Given the description of an element on the screen output the (x, y) to click on. 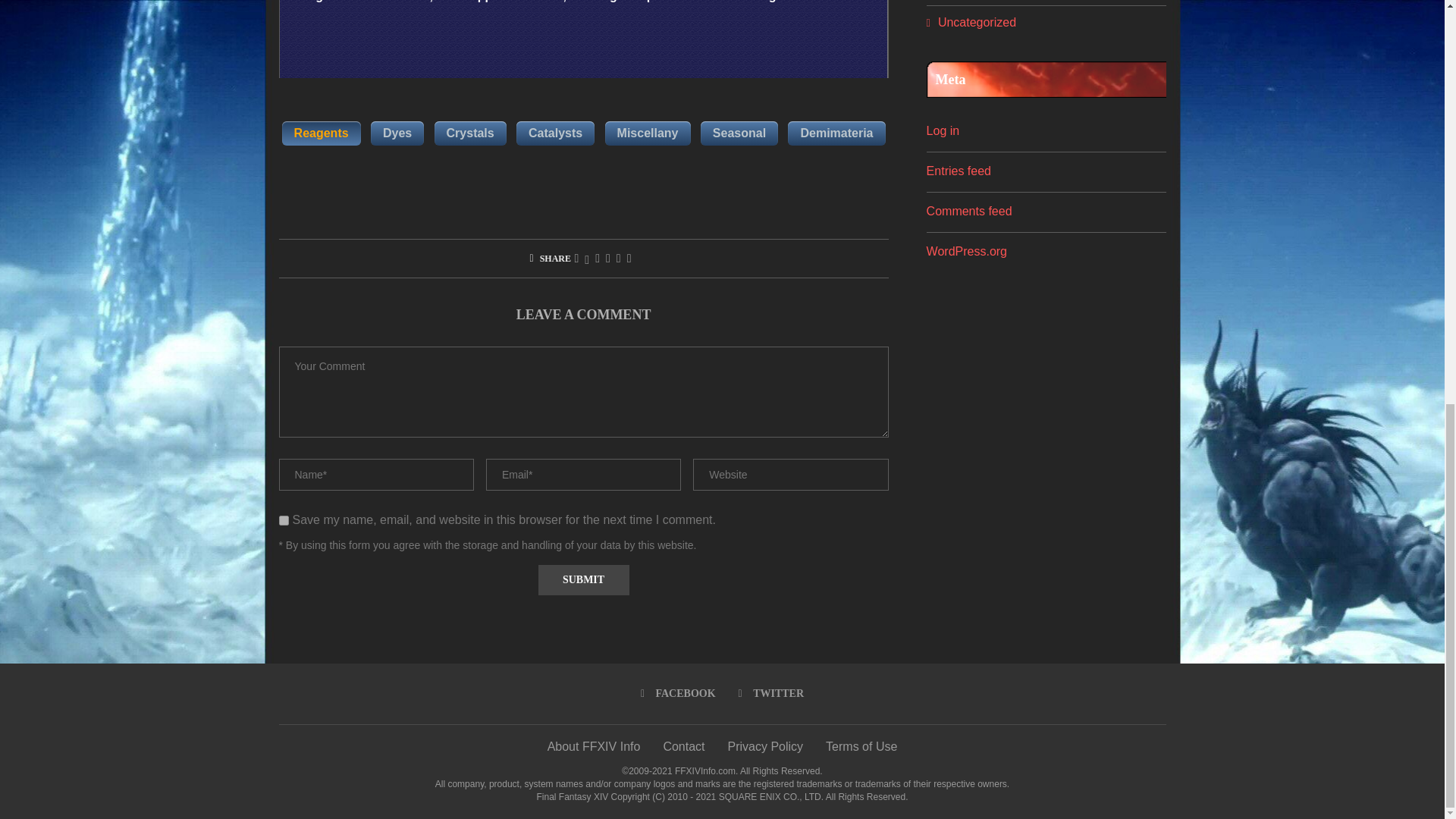
Submit (583, 580)
yes (283, 520)
